Given the description of an element on the screen output the (x, y) to click on. 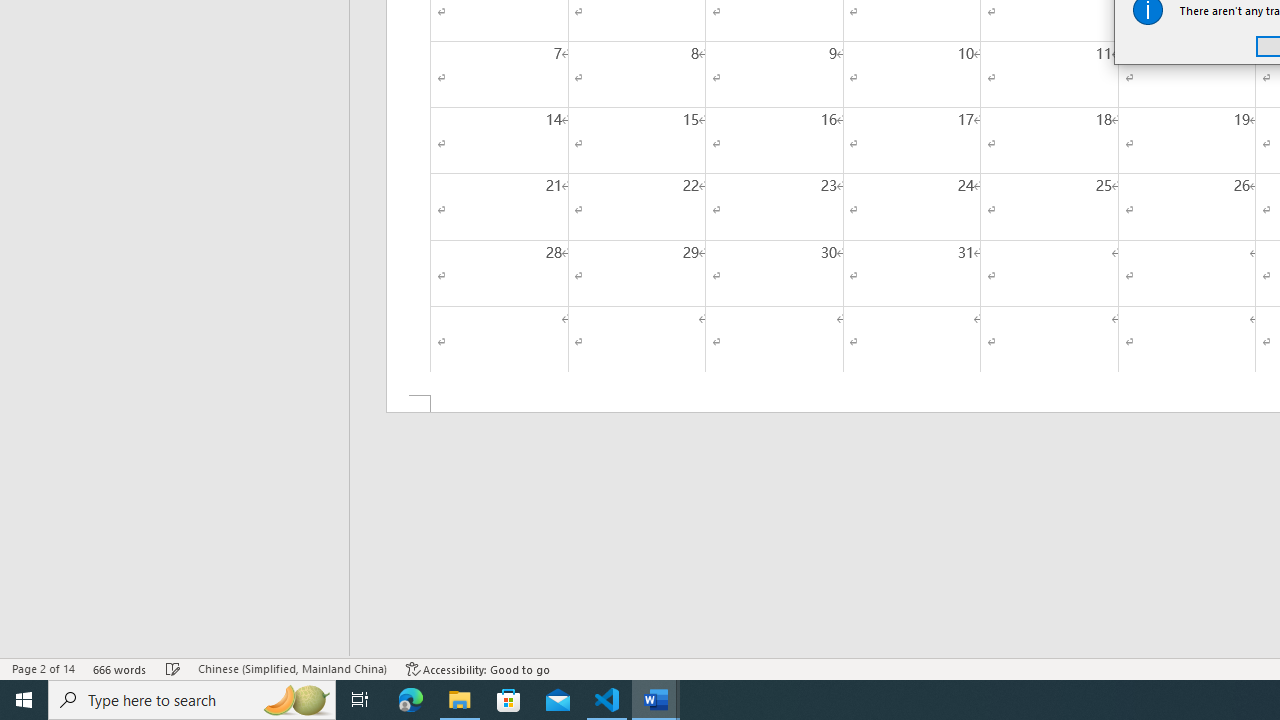
Word - 2 running windows (656, 699)
Microsoft Edge (411, 699)
Page Number Page 2 of 14 (43, 668)
